Given the description of an element on the screen output the (x, y) to click on. 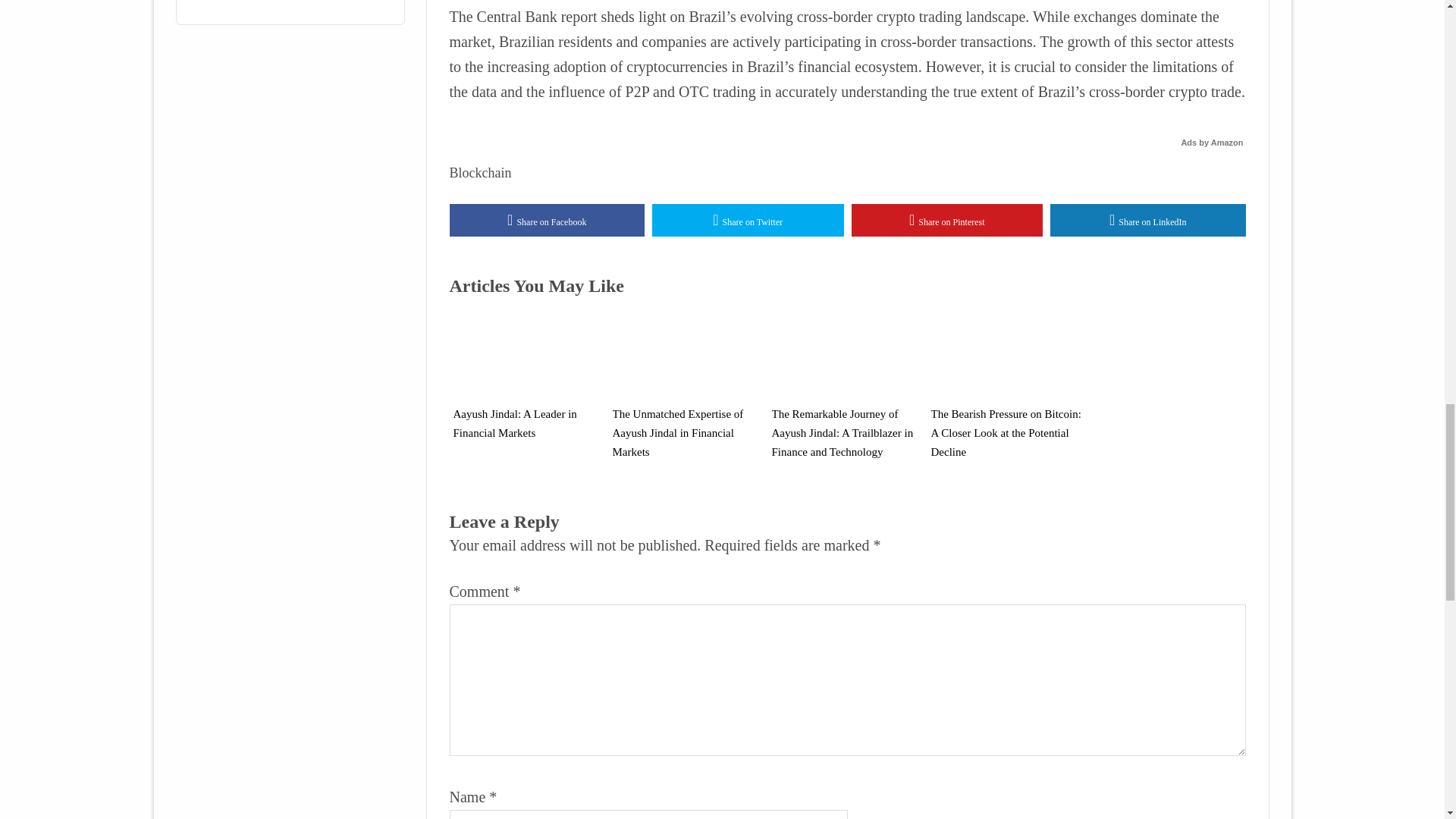
Blockchain (479, 172)
